Given the description of an element on the screen output the (x, y) to click on. 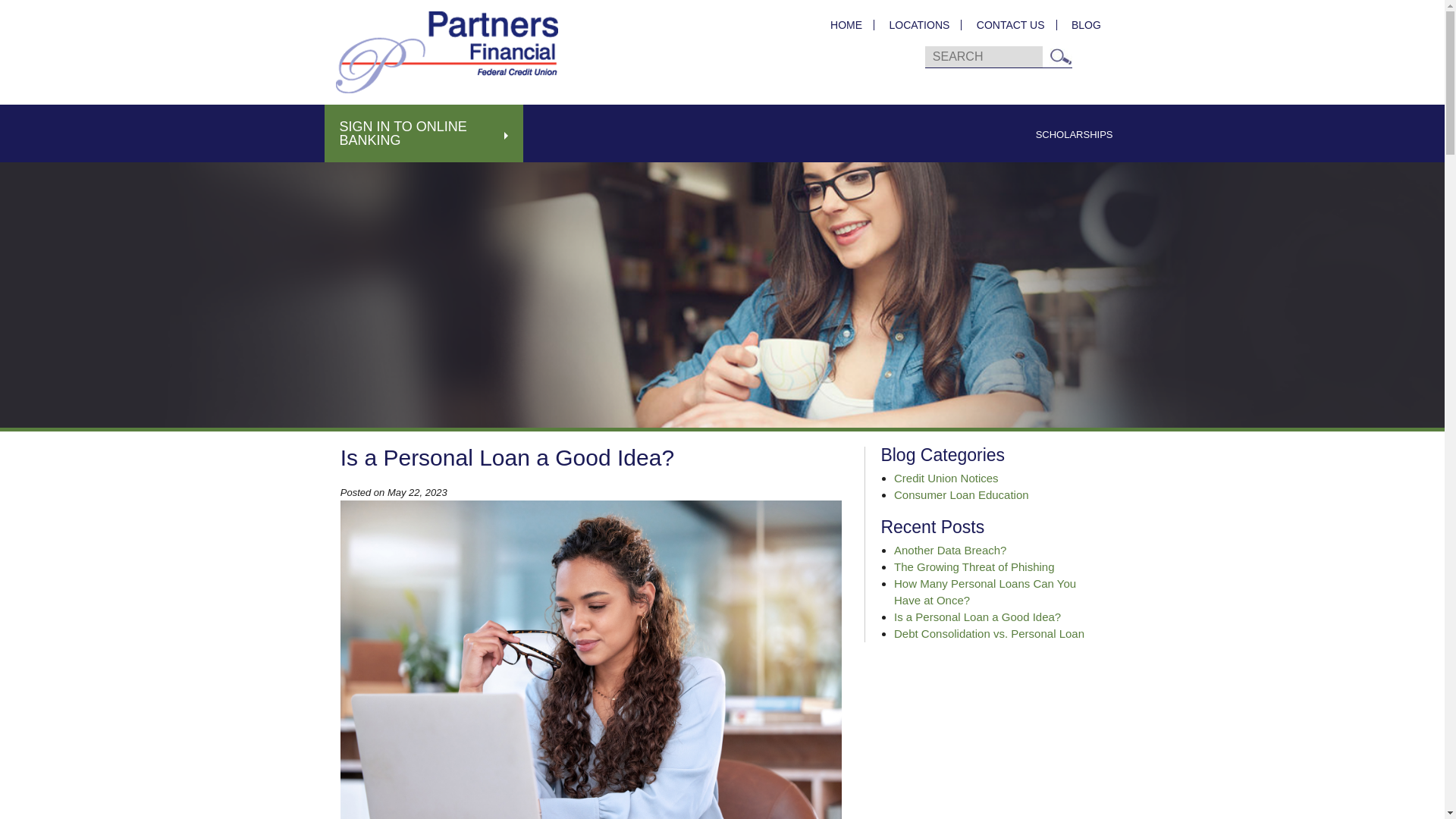
HOME (845, 24)
Is a Personal Loan a Good Idea? (977, 616)
SCHOLARSHIPS (1074, 134)
LOCATIONS (918, 24)
Credit Union Notices (945, 477)
The Growing Threat of Phishing (973, 566)
BLOG (1079, 24)
How Many Personal Loans Can You Have at Once? (984, 591)
Search (1059, 56)
Consumer Loan Education (961, 494)
Debt Consolidation vs. Personal Loan (988, 633)
SIGN IN TO ONLINE BANKING (424, 133)
CONTACT US (1011, 24)
Search (1059, 56)
Another Data Breach? (949, 549)
